Given the description of an element on the screen output the (x, y) to click on. 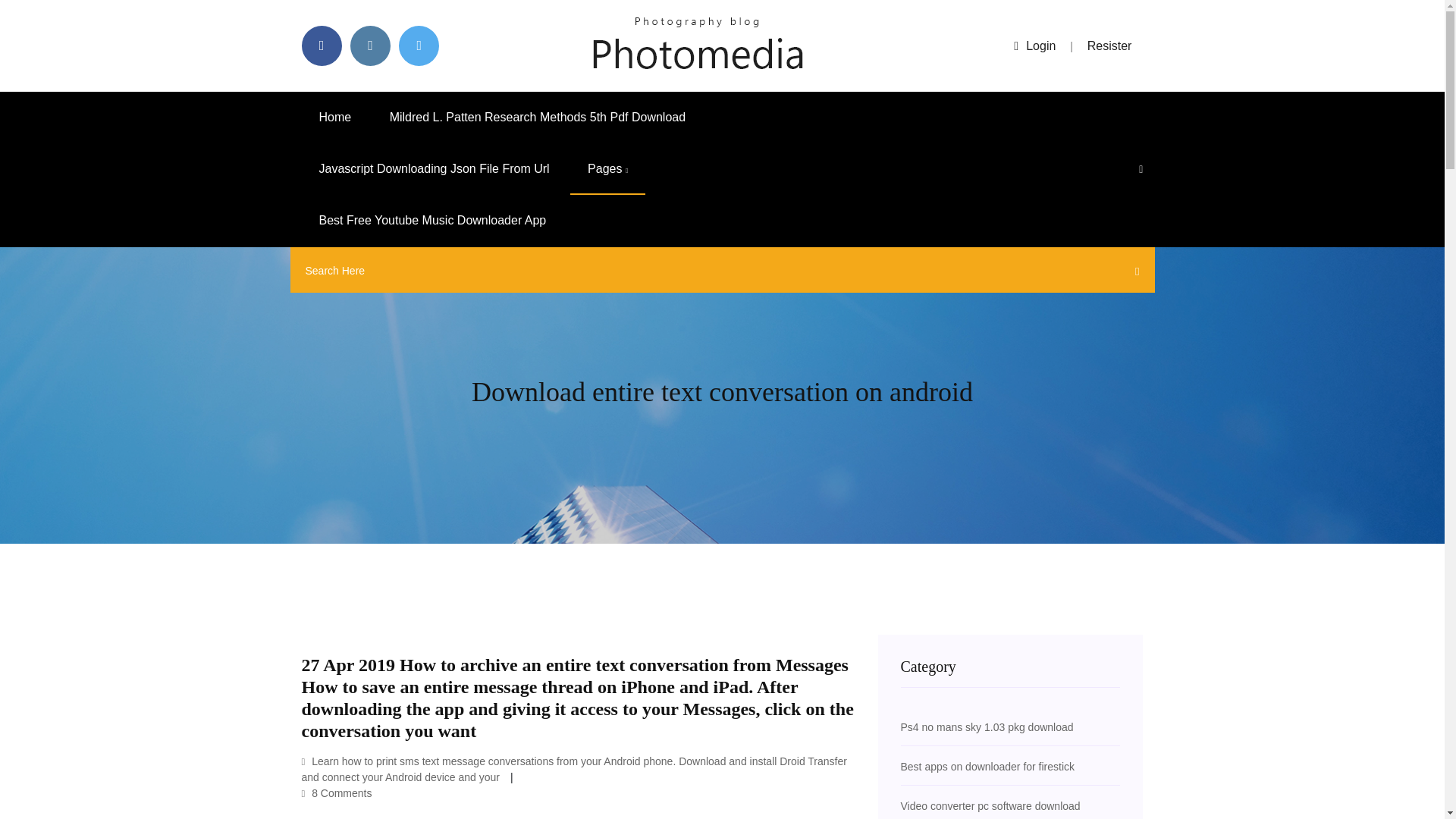
8 Comments (336, 793)
Close Search (1132, 274)
Pages (607, 168)
Home (335, 117)
Mildred L. Patten Research Methods 5th Pdf Download (537, 117)
Login (1034, 45)
Resister (1109, 45)
Javascript Downloading Json File From Url (434, 168)
Best Free Youtube Music Downloader App (432, 220)
